Given the description of an element on the screen output the (x, y) to click on. 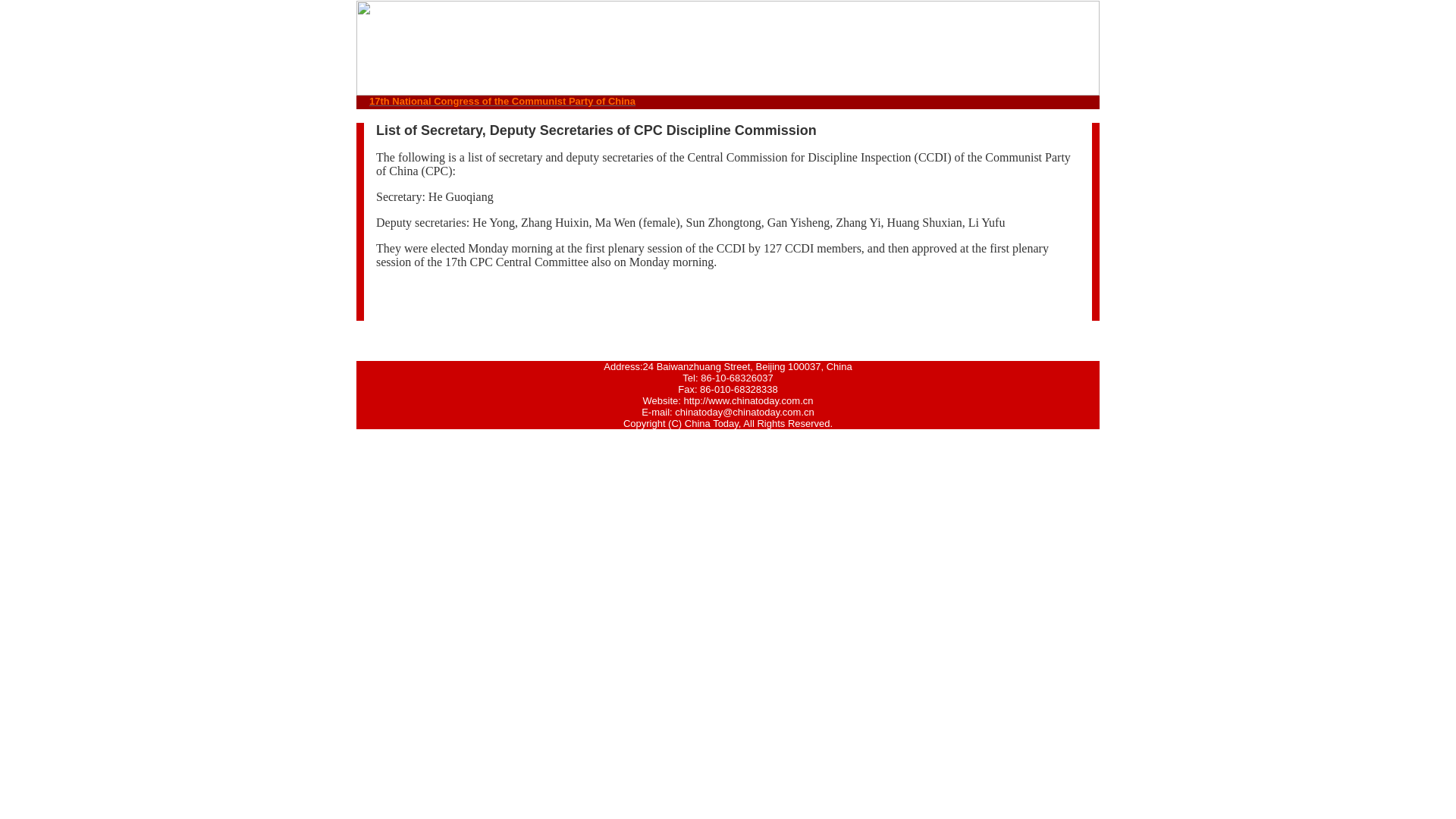
17th National Congress of the Communist Party of China (501, 101)
